Given the description of an element on the screen output the (x, y) to click on. 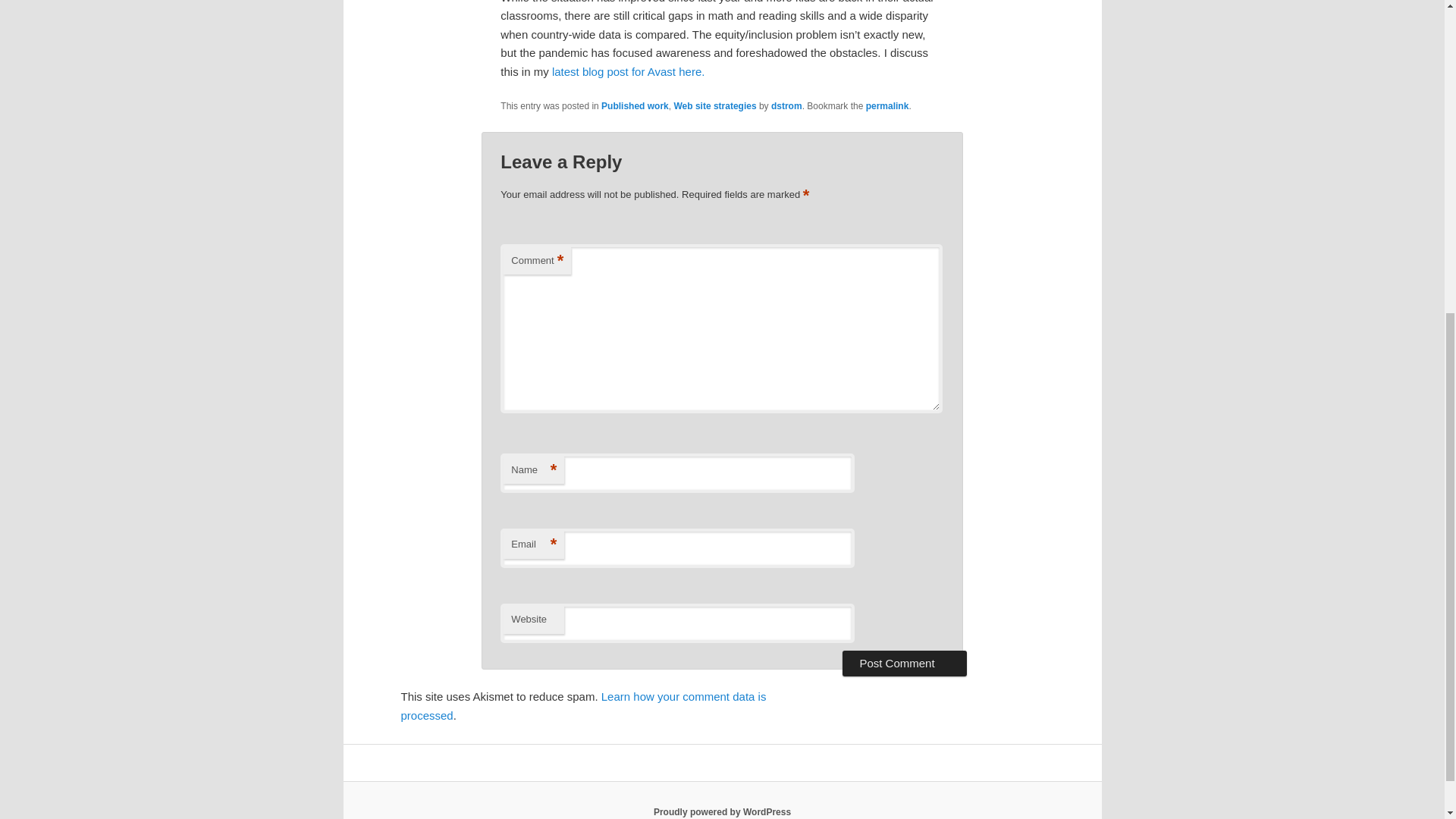
Post Comment (904, 663)
Post Comment (904, 663)
Proudly powered by WordPress (721, 811)
Semantic Personal Publishing Platform (721, 811)
latest blog post for Avast here. (626, 71)
Published work (634, 105)
dstrom (786, 105)
Learn how your comment data is processed (582, 705)
Web site strategies (713, 105)
